Given the description of an element on the screen output the (x, y) to click on. 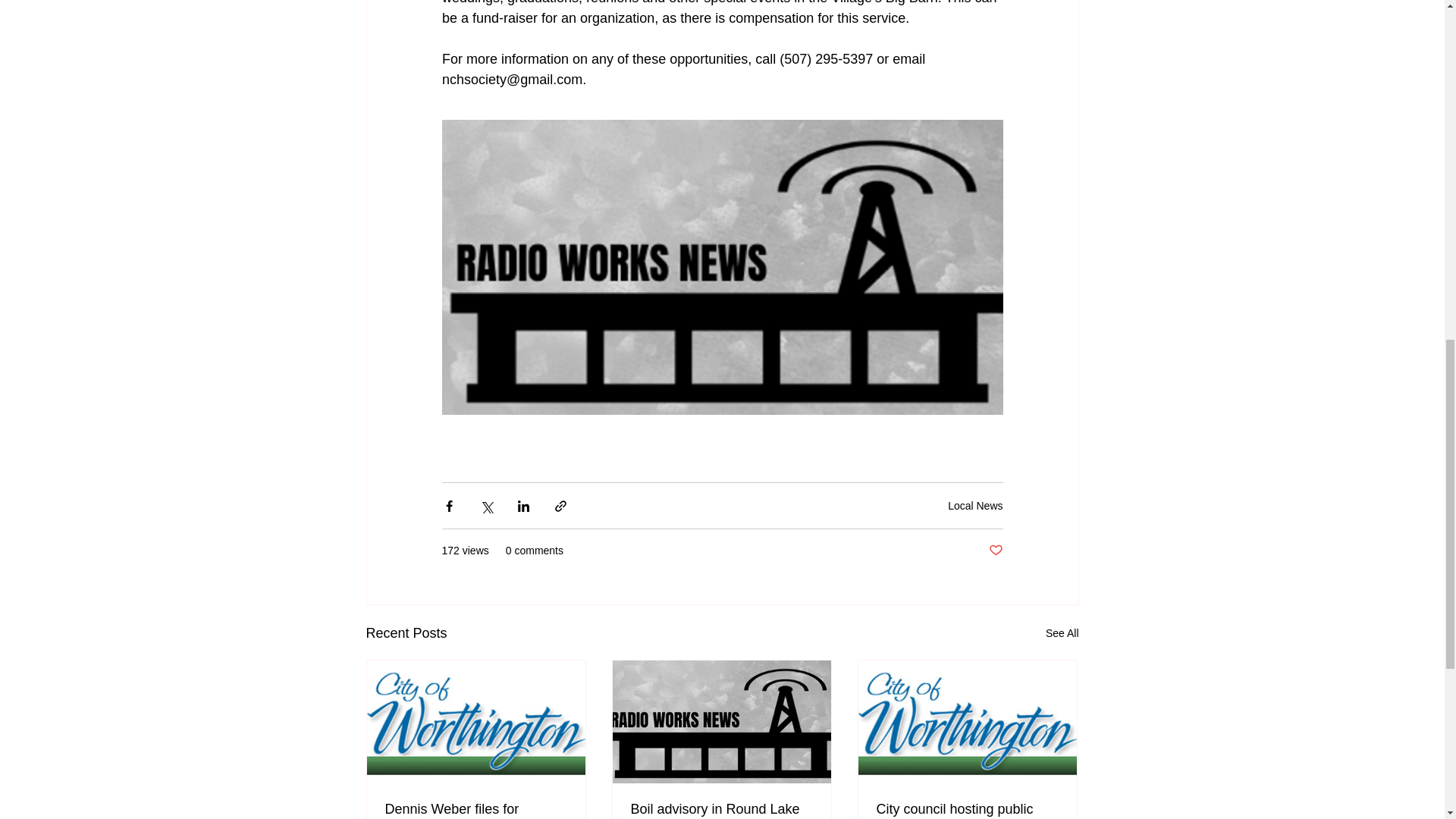
Post not marked as liked (995, 550)
See All (1061, 633)
Local News (975, 505)
Dennis Weber files for Worthington City Council seat (476, 810)
